Given the description of an element on the screen output the (x, y) to click on. 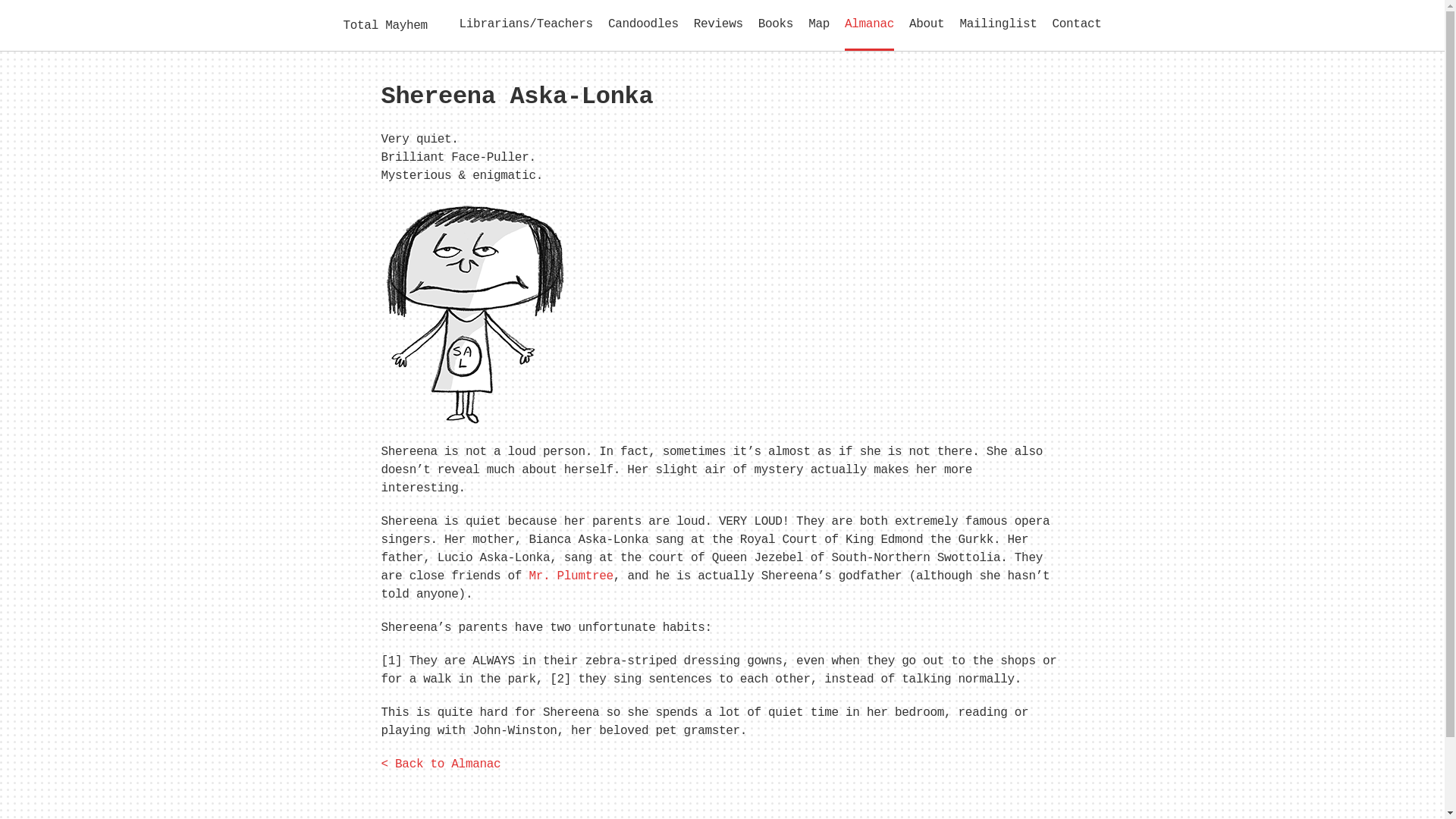
Reviews (718, 24)
Almanac (868, 24)
Total Mayhem (384, 24)
Contact (1077, 24)
Mr. Plumtree (570, 576)
Candoodles (643, 24)
Mailinglist (997, 24)
